Given the description of an element on the screen output the (x, y) to click on. 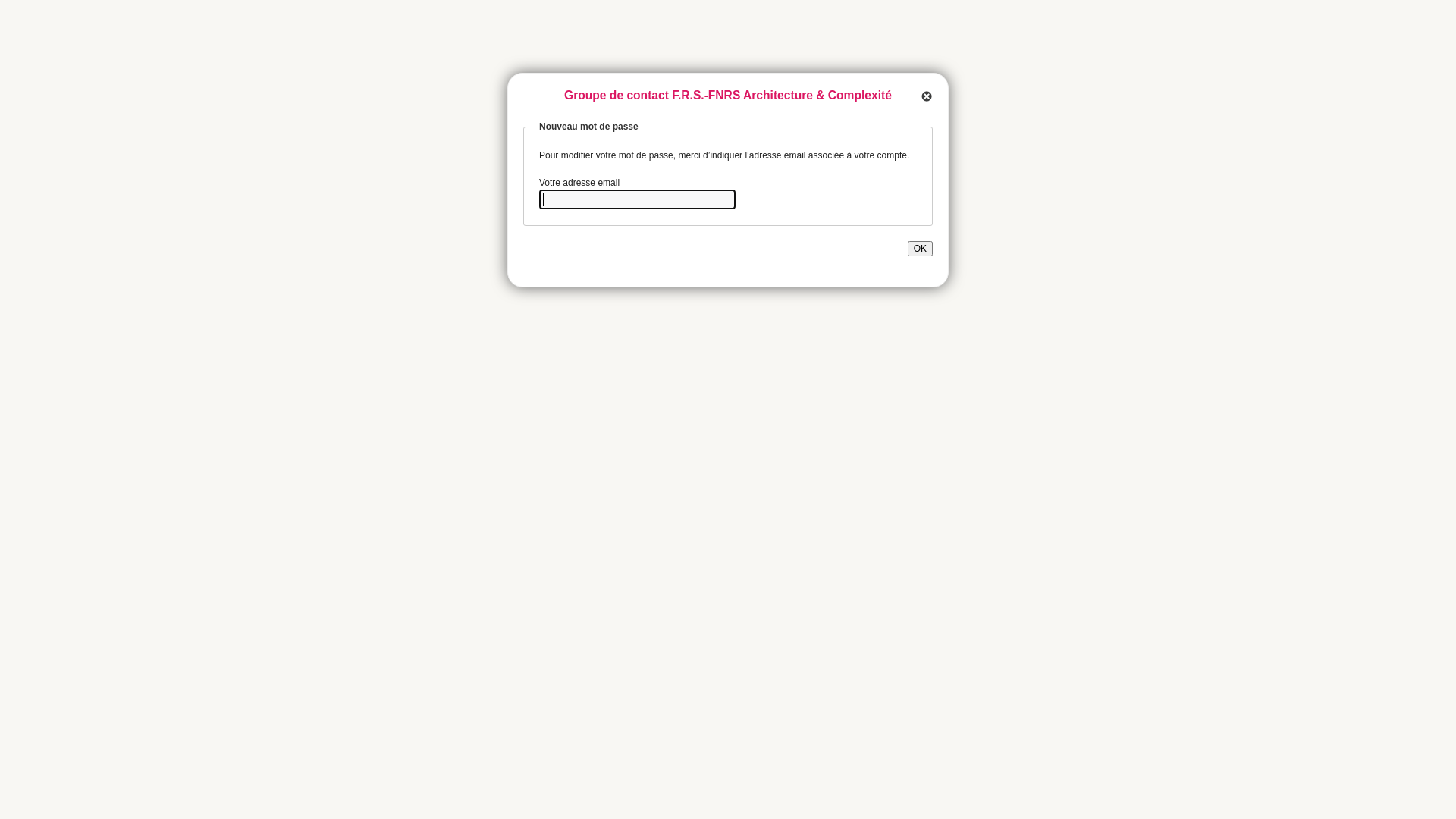
OK Element type: text (919, 248)
